Given the description of an element on the screen output the (x, y) to click on. 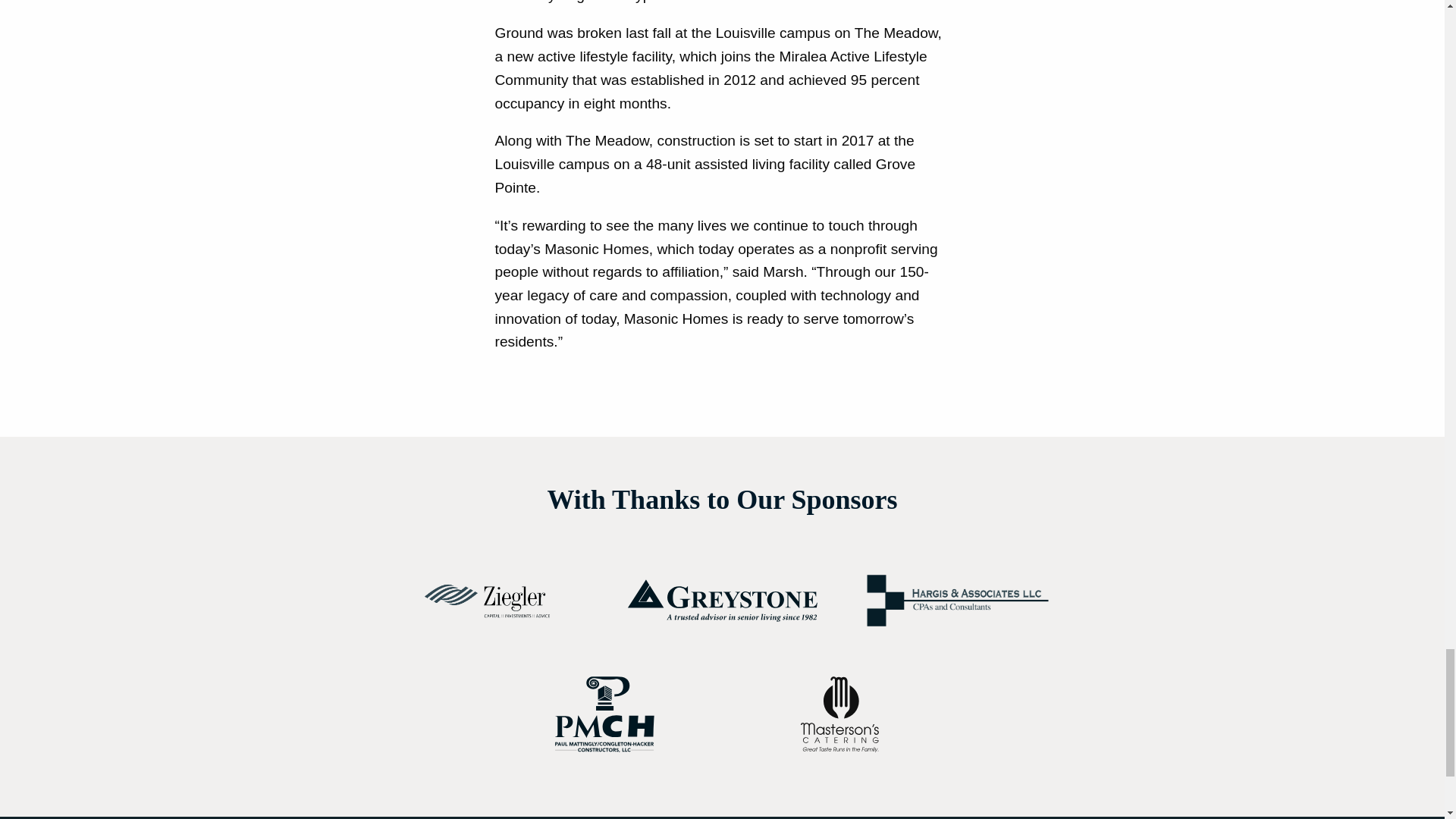
Ziegler (486, 600)
Greystone (721, 600)
Paul MattinglyCongleton-Hacker Constructors, LLC (604, 714)
